Given the description of an element on the screen output the (x, y) to click on. 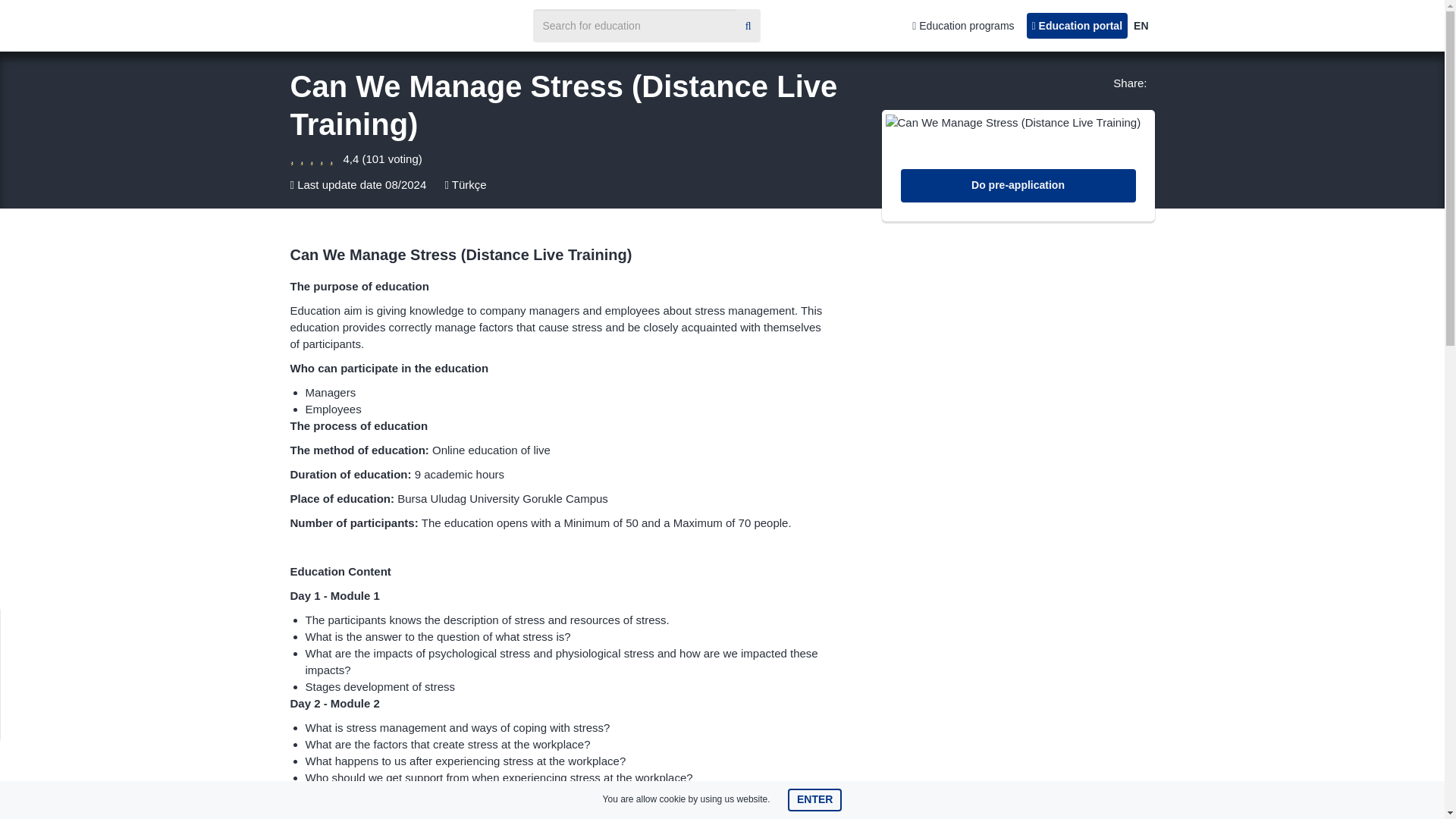
 Education programs (962, 25)
 Education portal (1076, 25)
Do pre-application (1018, 185)
